Given the description of an element on the screen output the (x, y) to click on. 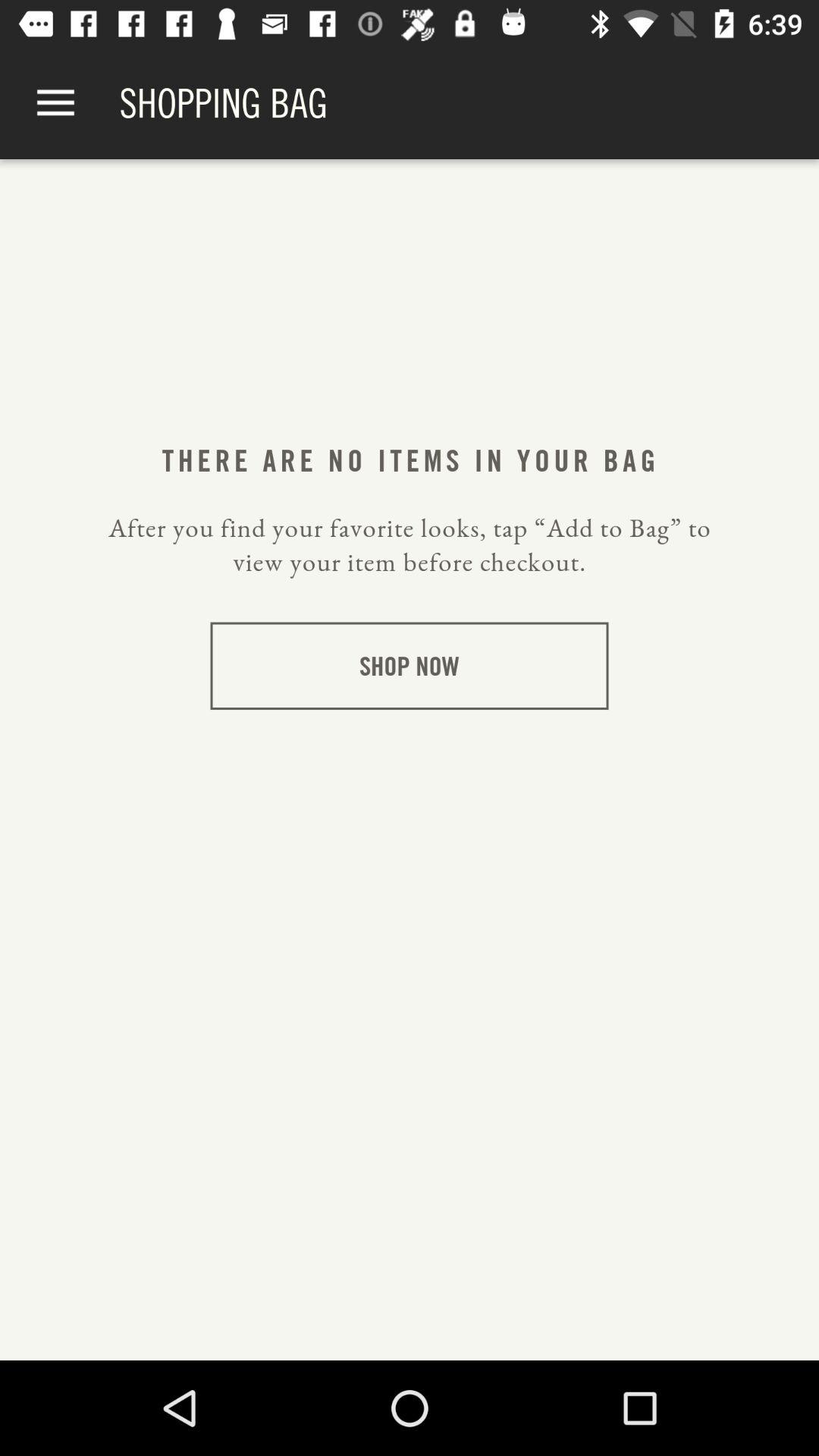
tap the item above the after you find (55, 103)
